Given the description of an element on the screen output the (x, y) to click on. 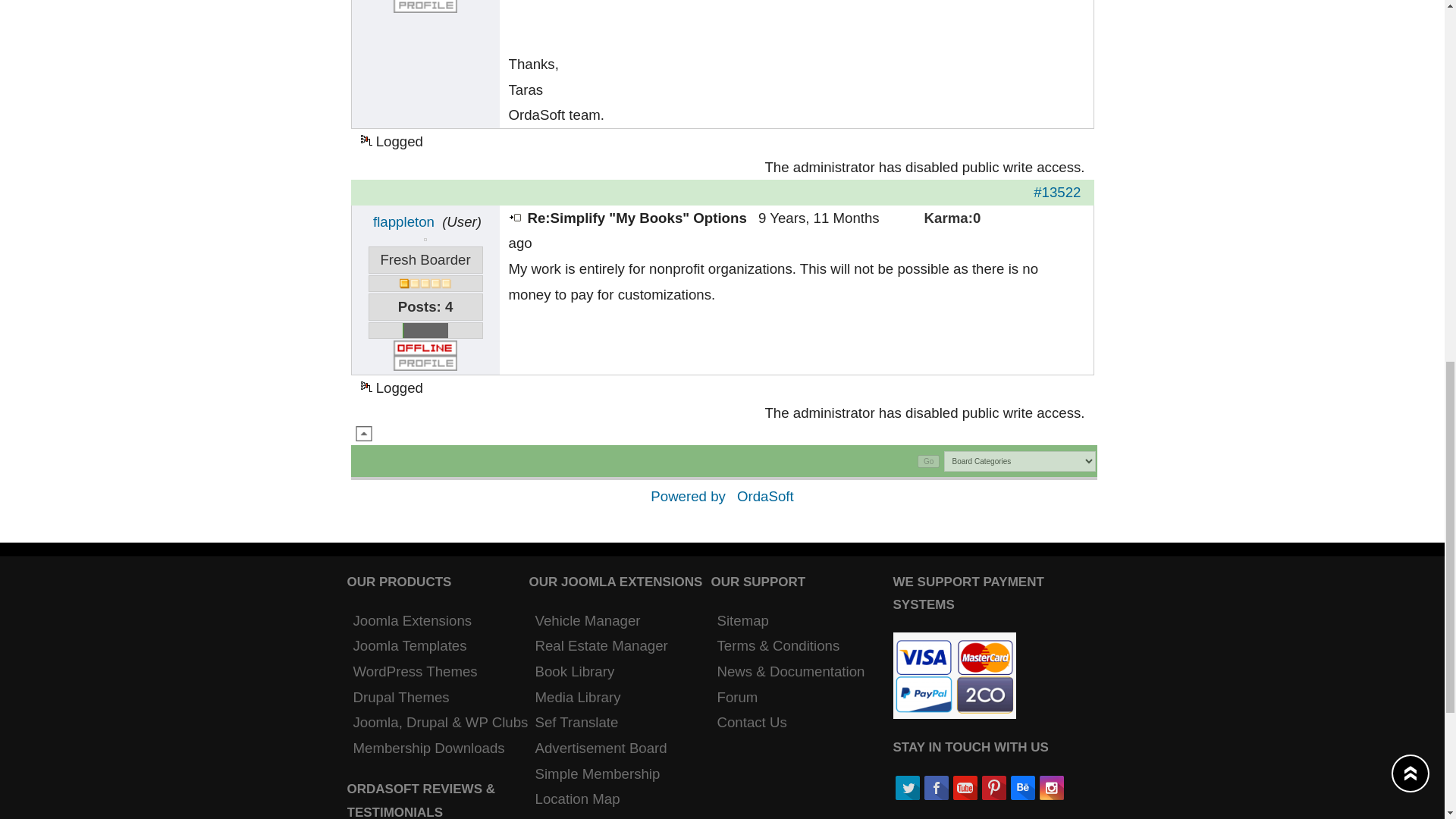
Click here to see the profile of this user (425, 6)
Go (928, 461)
